Given the description of an element on the screen output the (x, y) to click on. 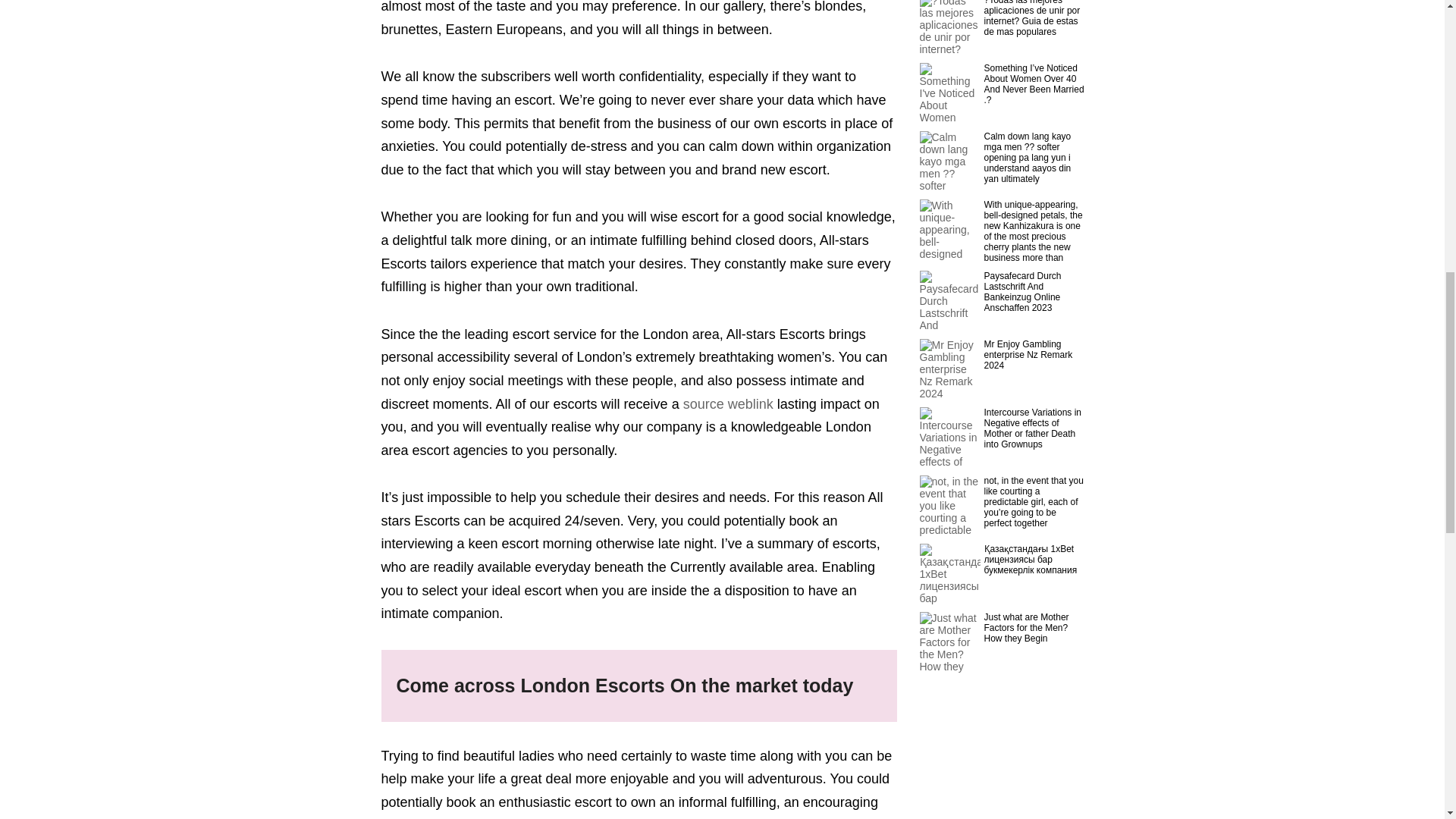
Just what are Mother Factors for the Men? How they Begin (1035, 627)
source weblink (727, 403)
Mr Enjoy Gambling enterprise Nz Remark 2024 (1035, 355)
